Given the description of an element on the screen output the (x, y) to click on. 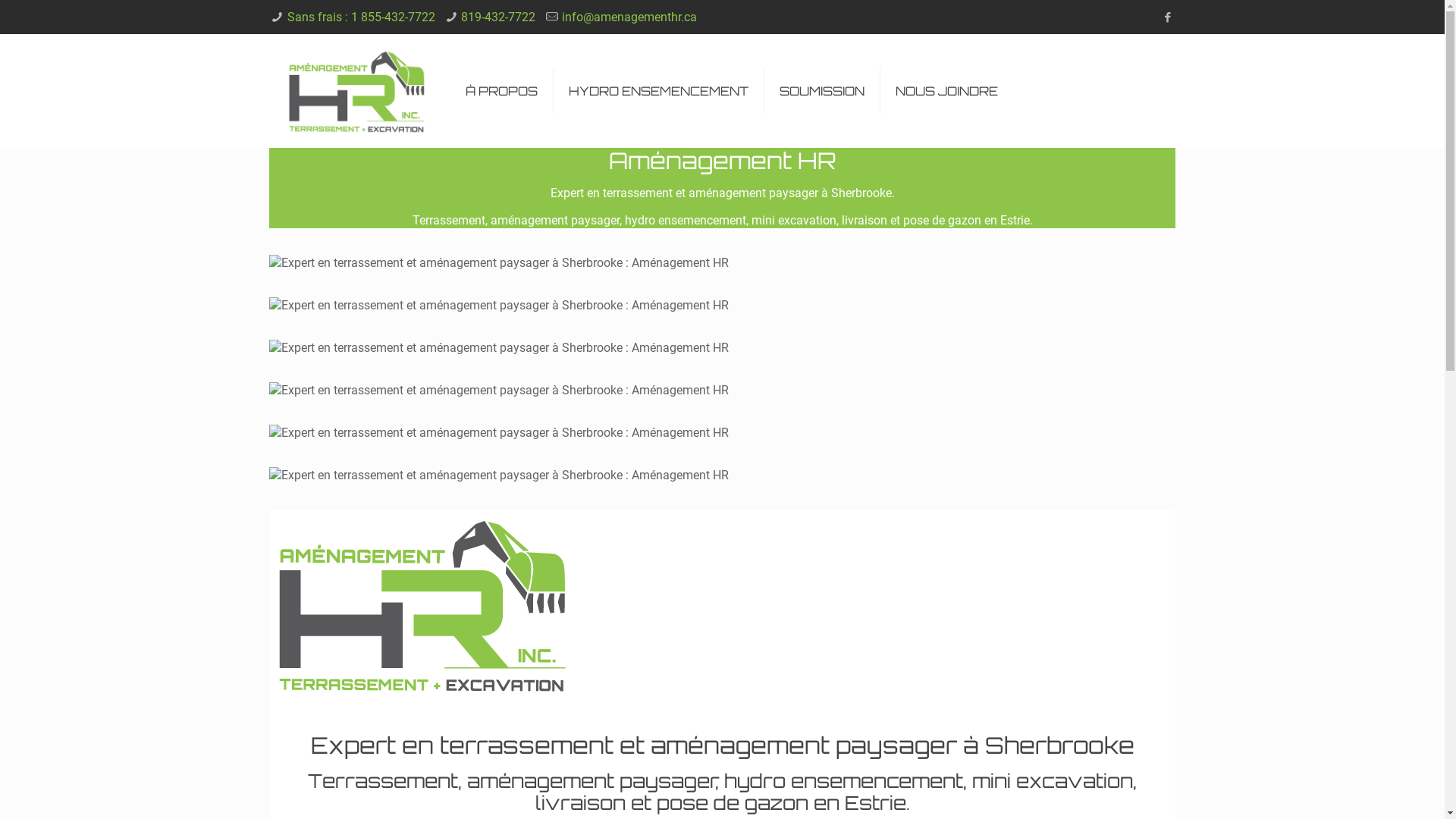
HYDRO ENSEMENCEMENT Element type: text (658, 90)
Sans frais : 1 855-432-7722 Element type: text (361, 16)
SOUMISSION Element type: text (822, 90)
NOUS JOINDRE Element type: text (946, 90)
Facebook Element type: hover (1167, 17)
info@amenagementhr.ca Element type: text (628, 16)
819-432-7722 Element type: text (498, 16)
